Given the description of an element on the screen output the (x, y) to click on. 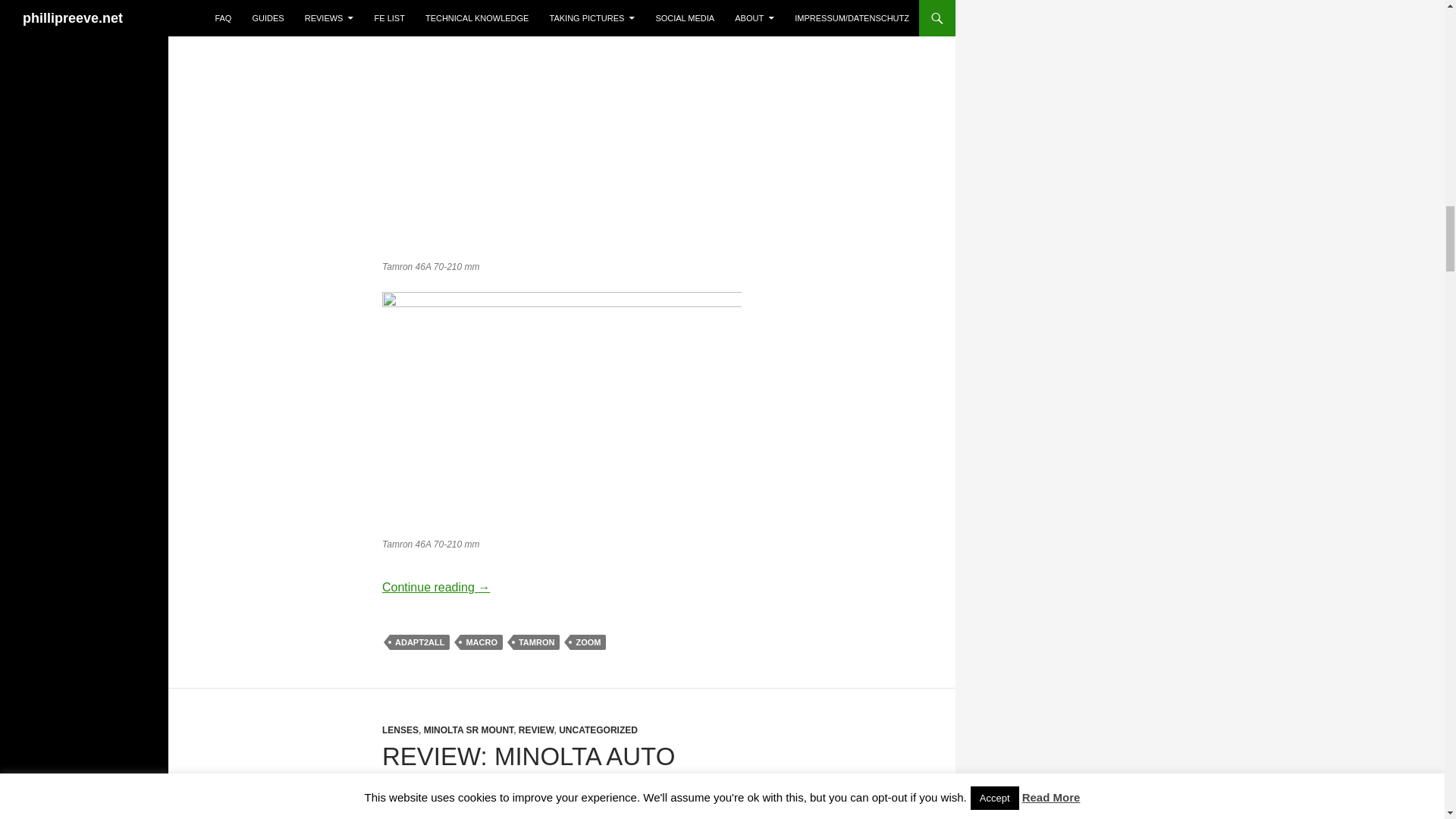
ZOOM (587, 642)
ADAPT2ALL (419, 642)
TAMRON (536, 642)
MACRO (481, 642)
